Given the description of an element on the screen output the (x, y) to click on. 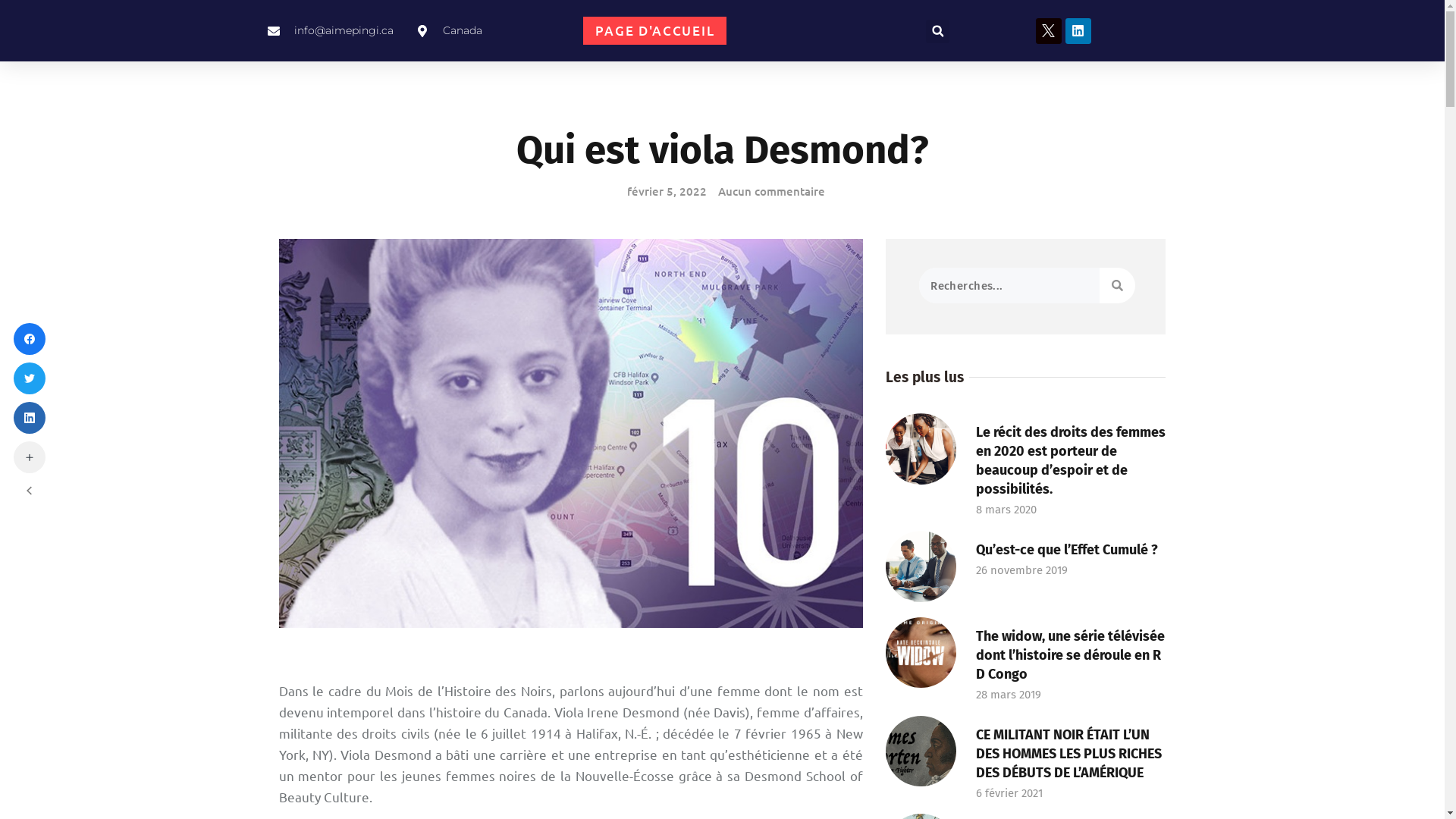
Aucun commentaire Element type: text (767, 191)
PAGE D'ACCUEIL Element type: text (654, 30)
